Given the description of an element on the screen output the (x, y) to click on. 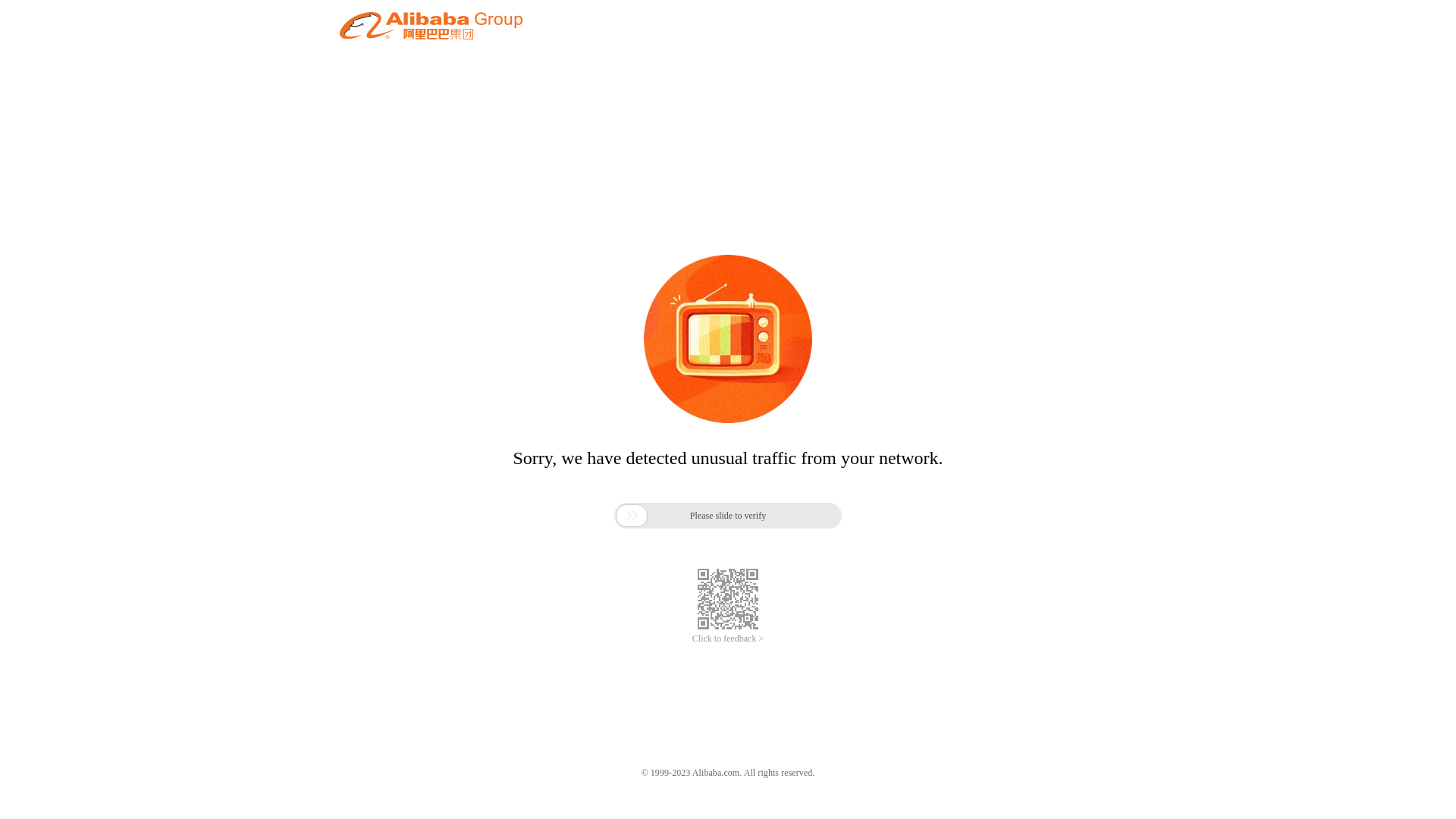
Click to feedback > Element type: text (727, 638)
